Given the description of an element on the screen output the (x, y) to click on. 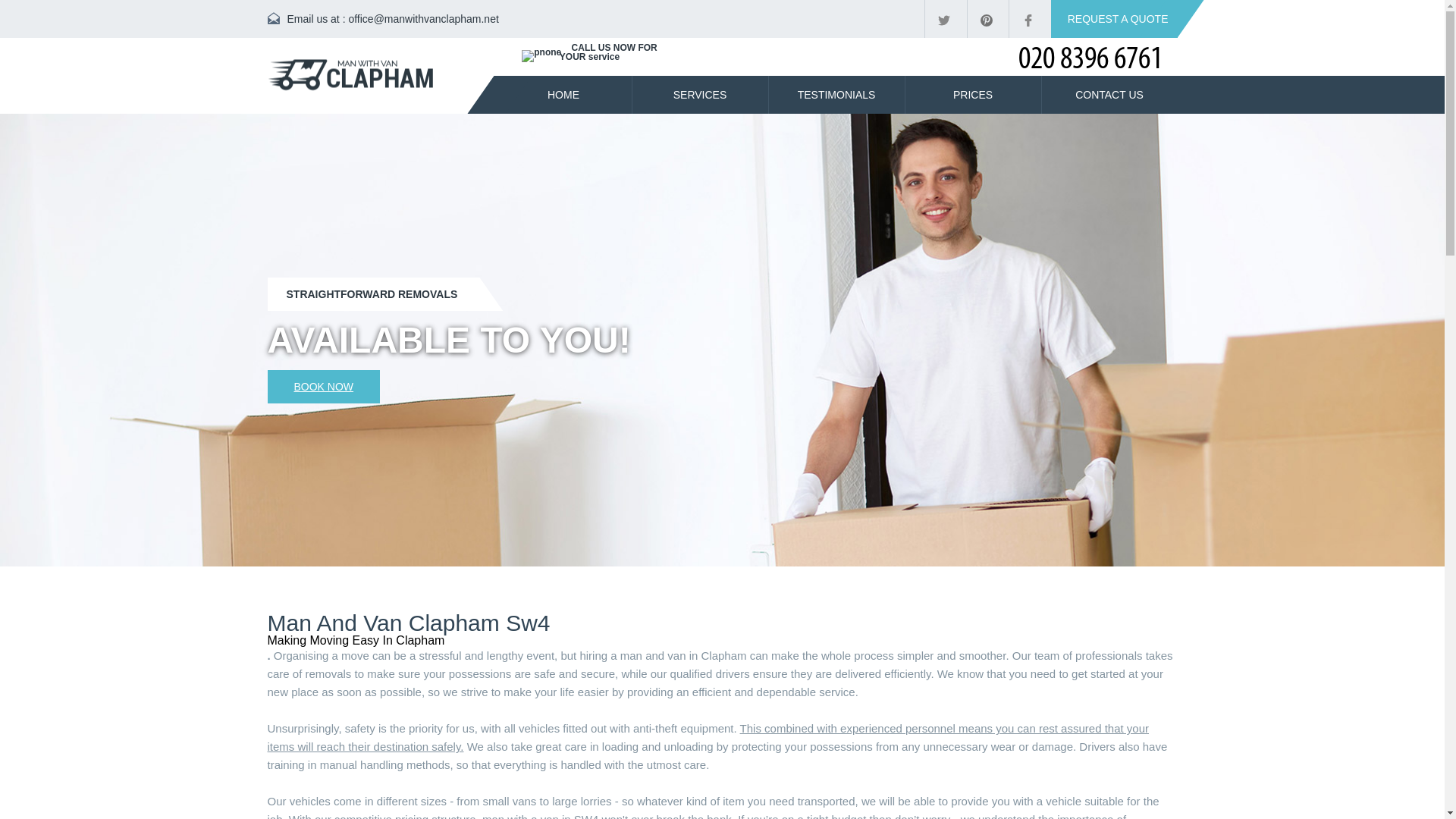
CONTACT US (1109, 94)
SERVICES (699, 94)
HOME (563, 94)
Call Now! (924, 48)
PRICES (973, 94)
TESTIMONIALS (836, 94)
REQUEST A QUOTE (1114, 18)
